Given the description of an element on the screen output the (x, y) to click on. 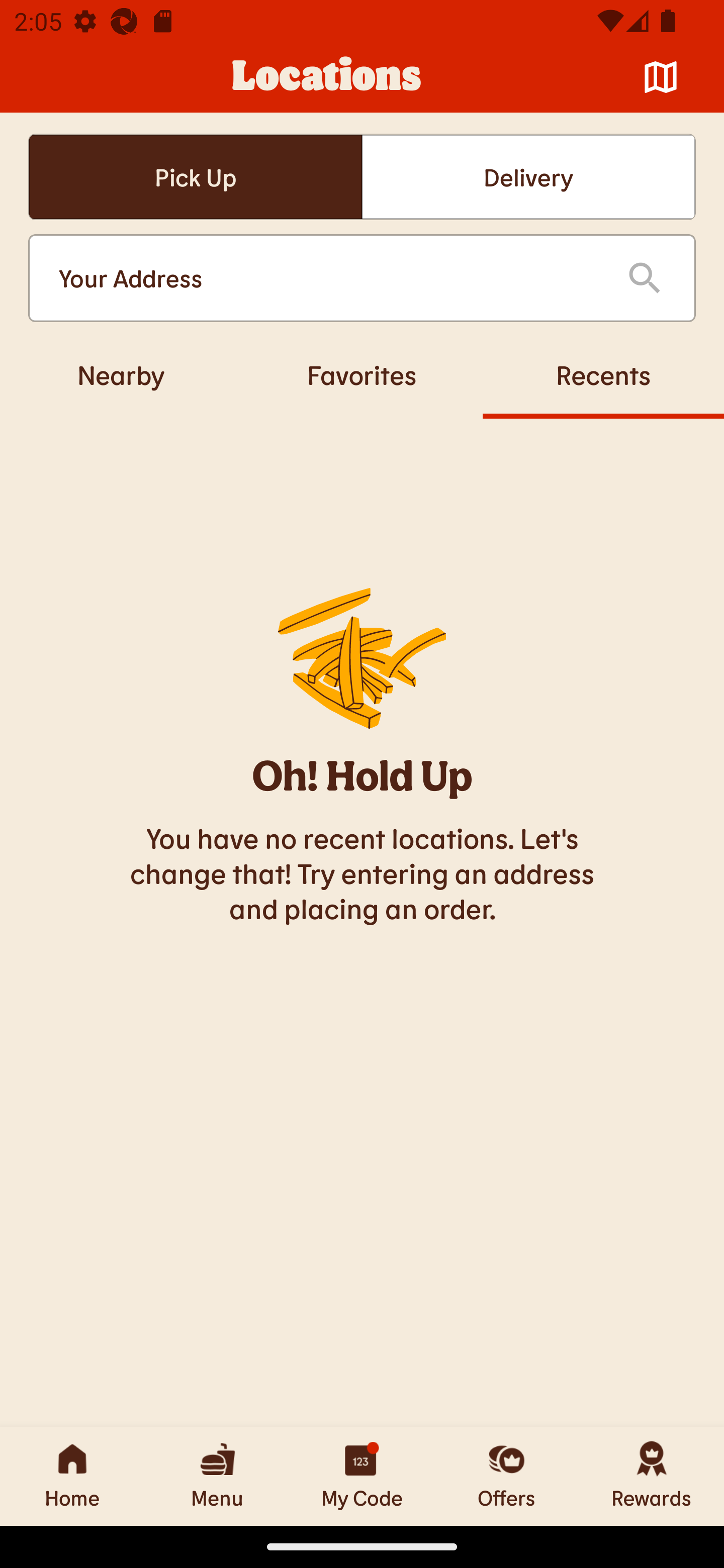
Map 󰦂 (660, 77)
Locations (326, 77)
Pick UpSelected Pick UpSelected Pick Up (195, 176)
Delivery Delivery Delivery (528, 176)
Your Address (327, 277)
Nearby (120, 374)
Favorites (361, 374)
Recents (603, 374)
Home (72, 1475)
Menu (216, 1475)
My Code (361, 1475)
Offers (506, 1475)
Rewards (651, 1475)
